Given the description of an element on the screen output the (x, y) to click on. 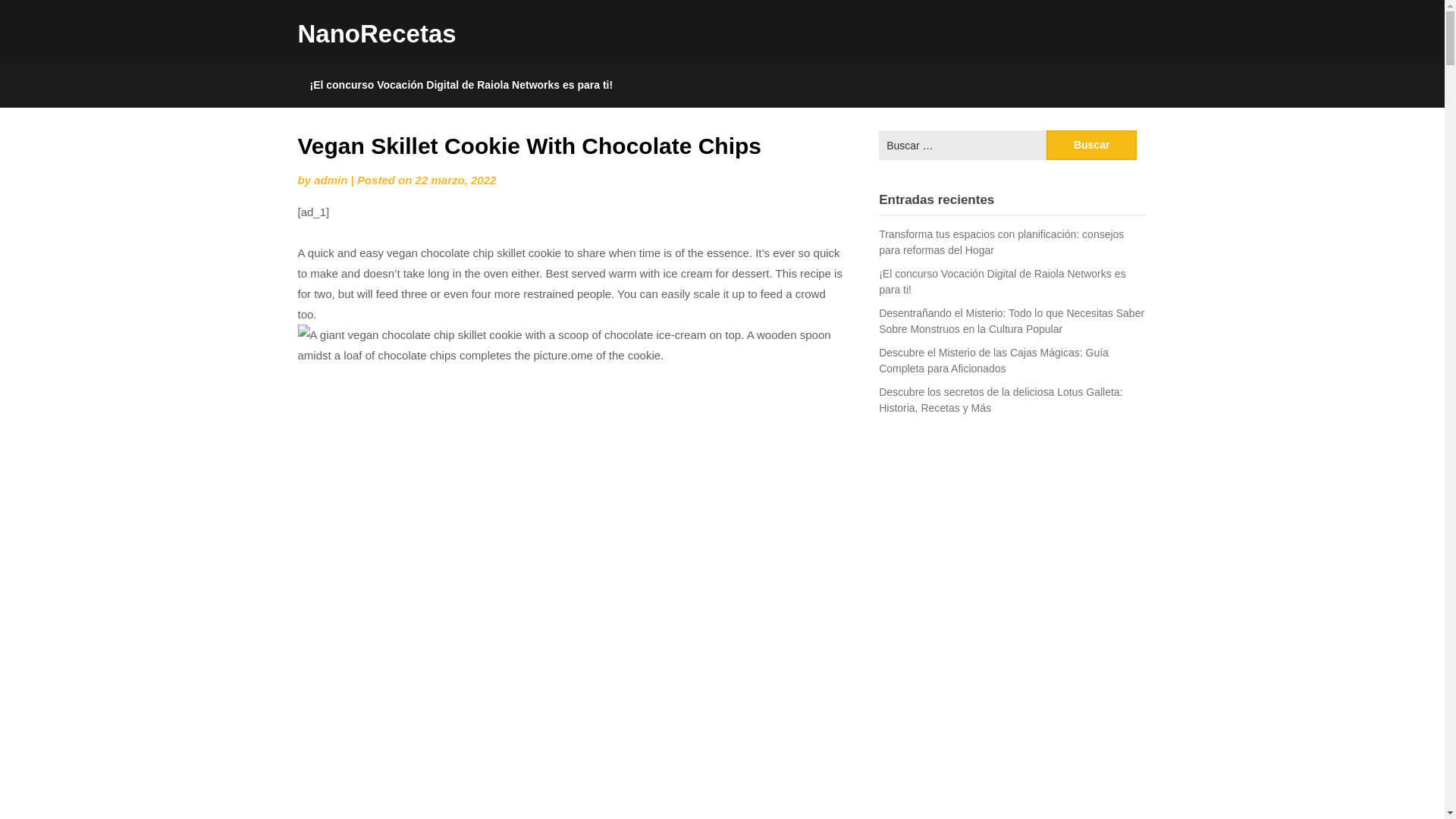
Buscar (1091, 144)
NanoRecetas (376, 33)
admin (330, 179)
Buscar (1091, 144)
22 marzo, 2022 (455, 179)
Buscar (1091, 144)
